Given the description of an element on the screen output the (x, y) to click on. 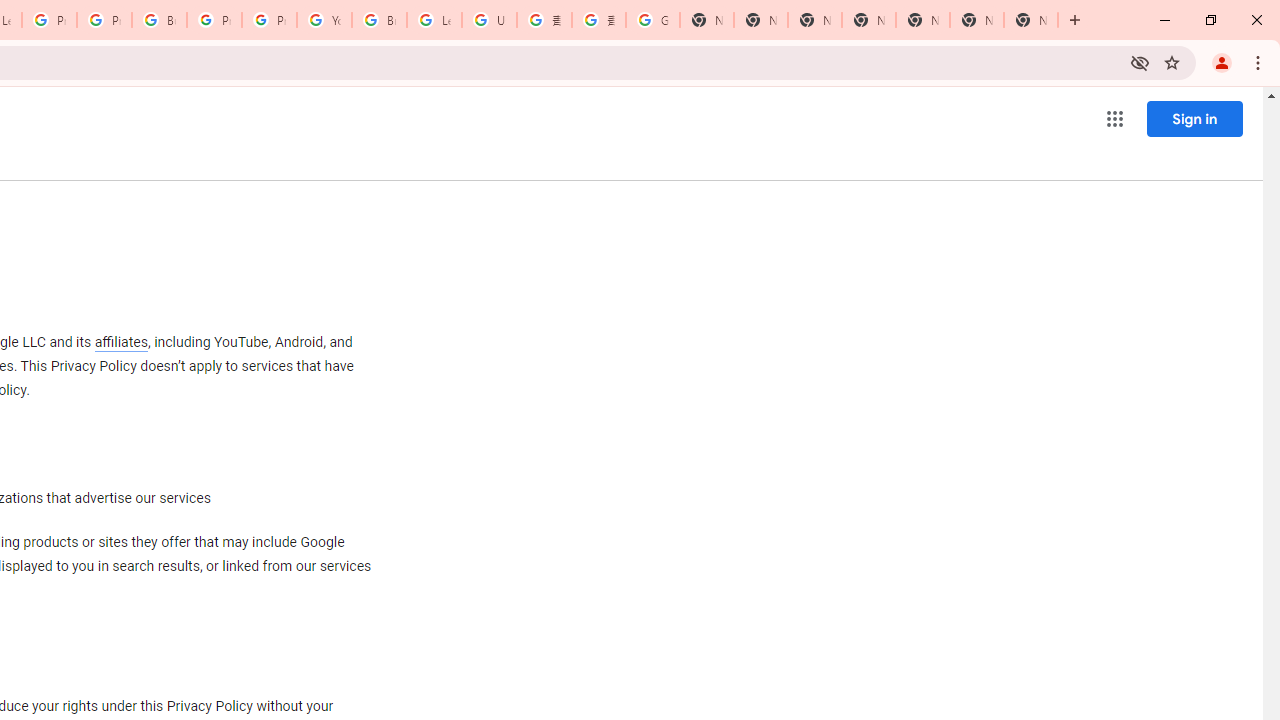
New Tab (1030, 20)
New Tab (868, 20)
Privacy Help Center - Policies Help (48, 20)
